Given the description of an element on the screen output the (x, y) to click on. 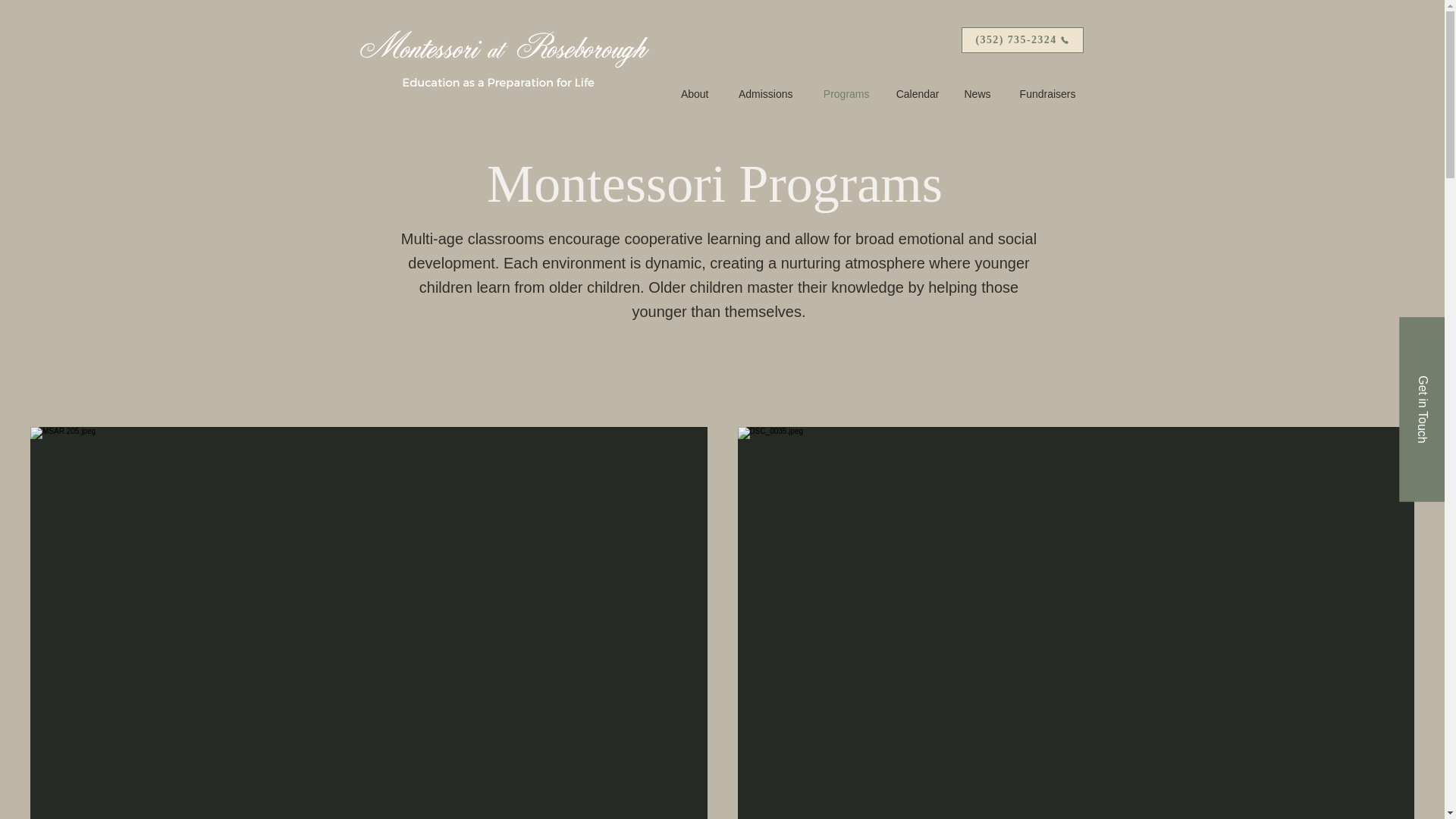
About (691, 94)
News (976, 94)
Programs (841, 94)
Admissions (762, 94)
Calendar (915, 94)
